Given the description of an element on the screen output the (x, y) to click on. 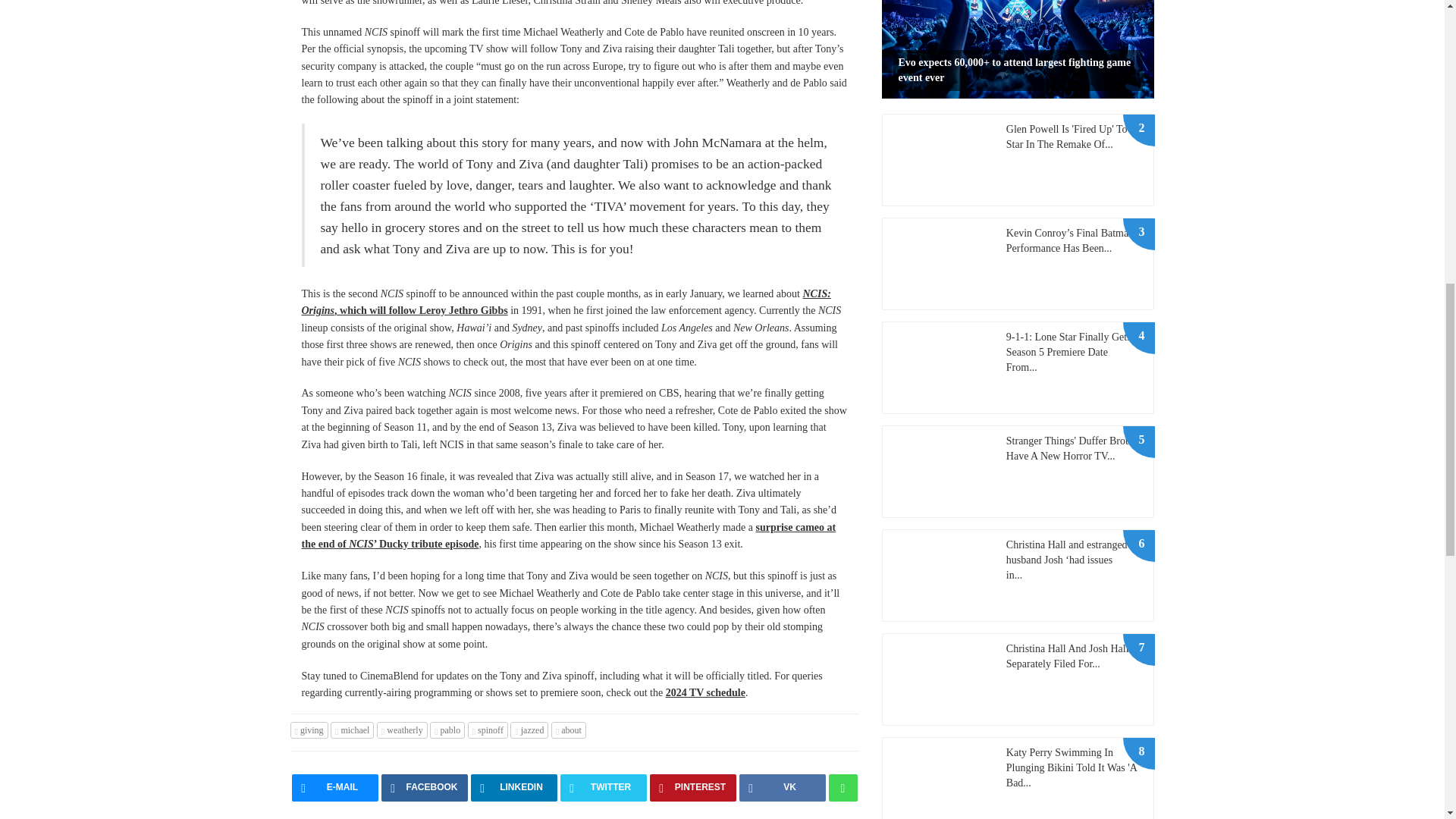
spinoff (487, 729)
jazzed (529, 729)
michael (352, 729)
giving (308, 729)
weatherly (402, 729)
pablo (446, 729)
about (568, 729)
